Given the description of an element on the screen output the (x, y) to click on. 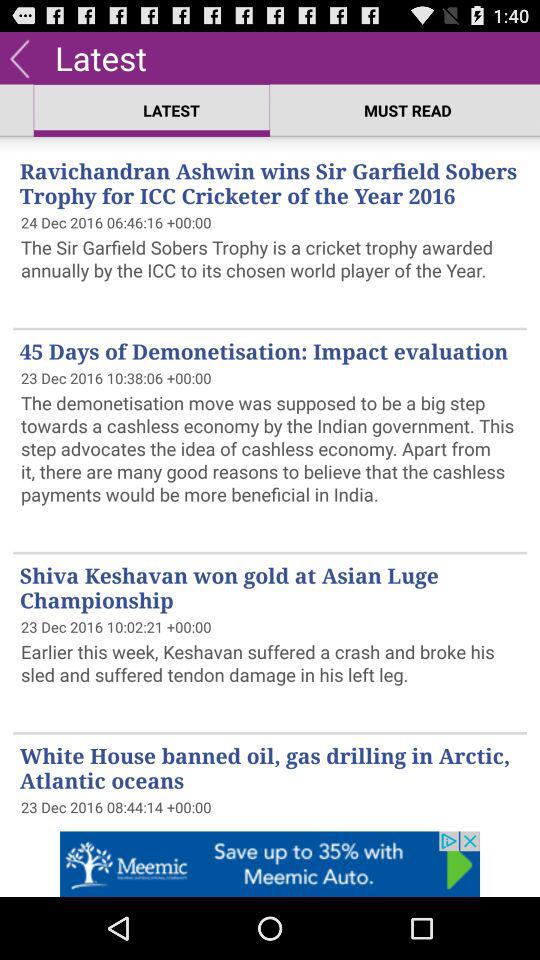
go to advertisement (270, 864)
